Given the description of an element on the screen output the (x, y) to click on. 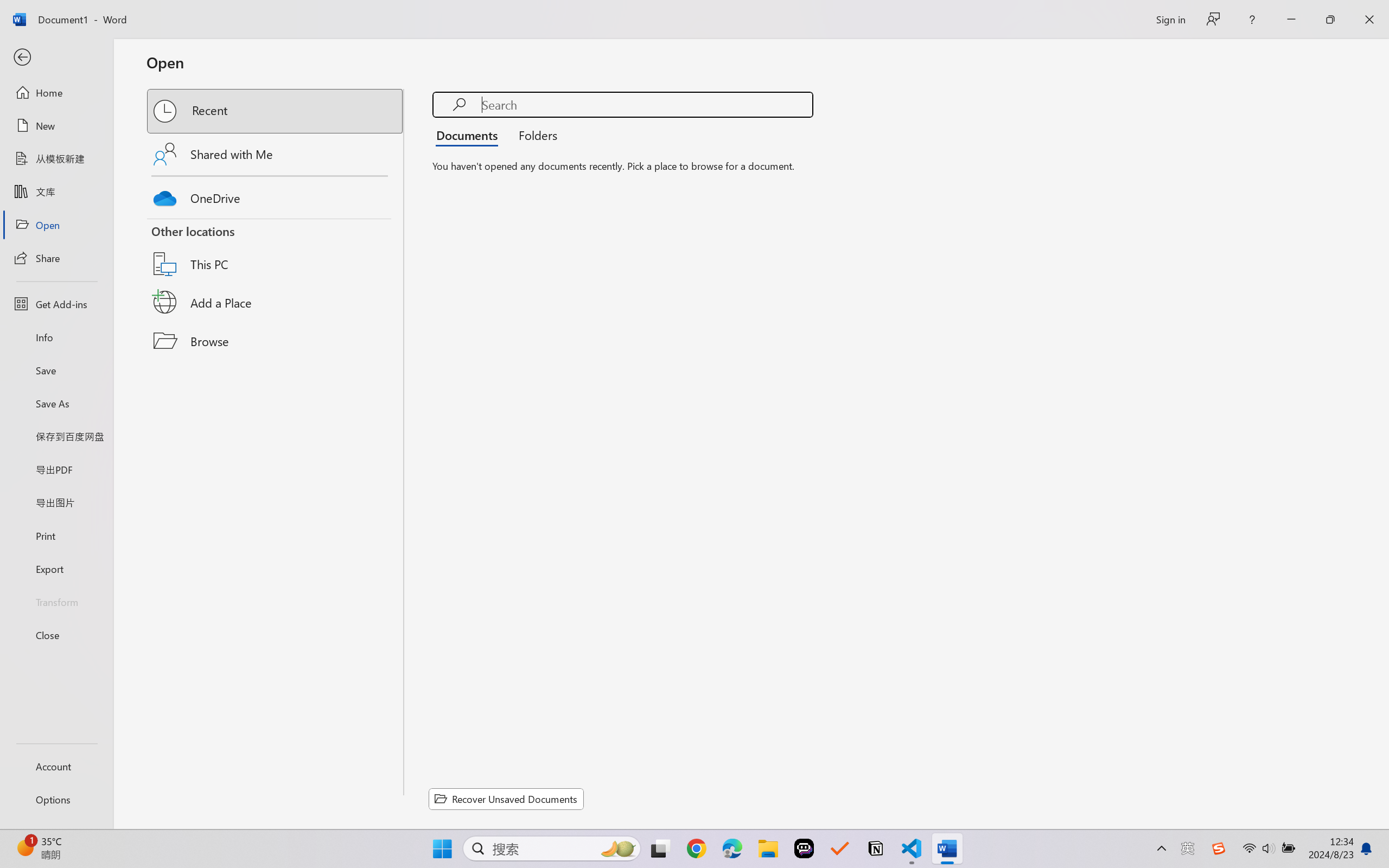
OneDrive (275, 195)
Get Add-ins (56, 303)
Transform (56, 601)
New (56, 125)
Save As (56, 403)
Browse (275, 340)
Shared with Me (275, 153)
Back (56, 57)
This PC (275, 249)
